Given the description of an element on the screen output the (x, y) to click on. 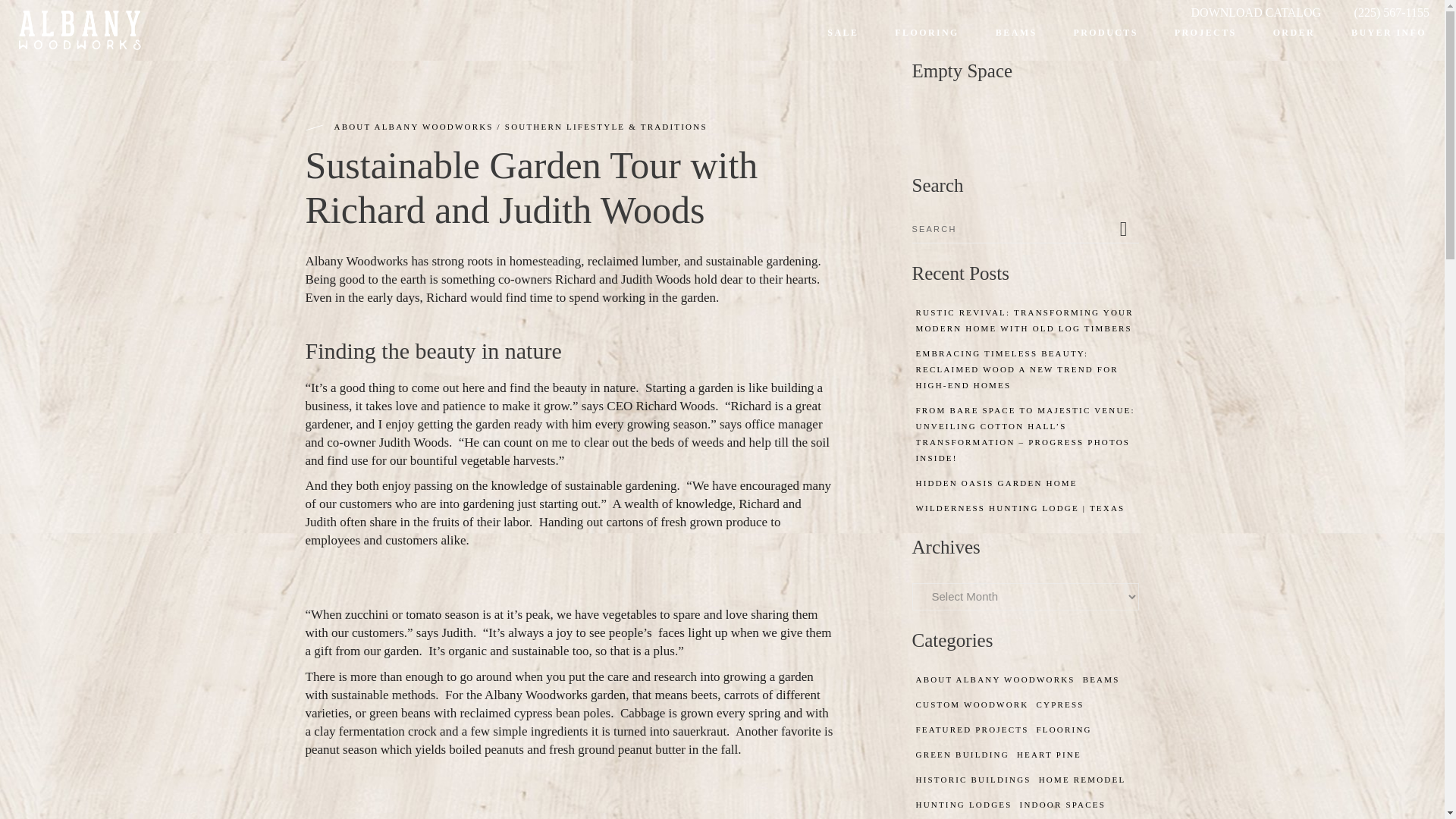
BEAMS (1015, 40)
FLOORING (926, 40)
PRODUCTS (1105, 40)
DOWNLOAD CATALOG (1256, 11)
Search for: (1011, 228)
PROJECTS (1205, 40)
ORDER (1294, 40)
SALE (842, 40)
